Given the description of an element on the screen output the (x, y) to click on. 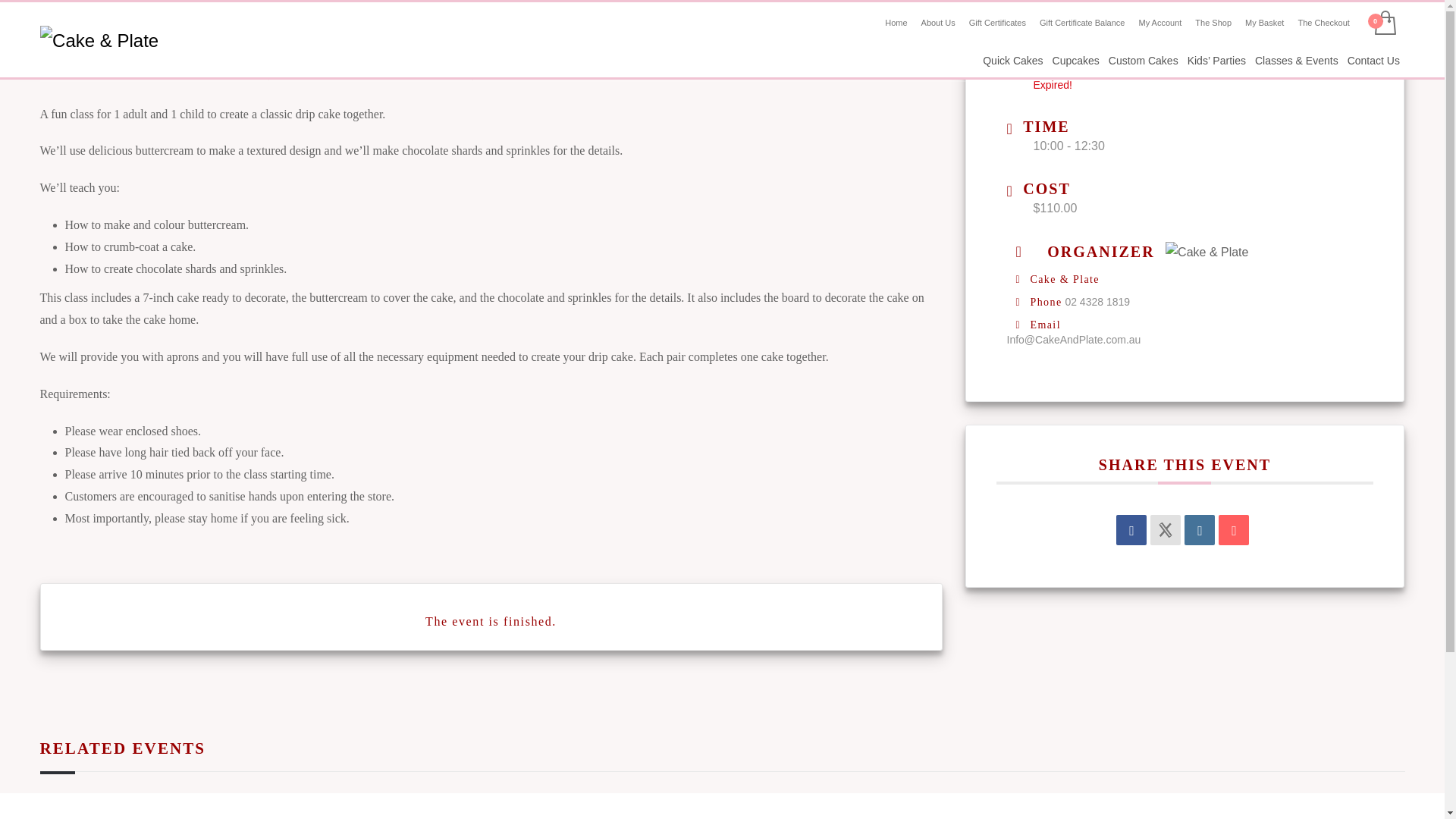
Gift Certificates (997, 22)
X Social Network (1165, 530)
Home (896, 22)
The Checkout (1323, 22)
02 4328 1819 (1096, 301)
About Us (938, 22)
Share on Facebook (1131, 530)
View your shopping cart (1388, 22)
My Basket (1264, 22)
The Shop (1213, 22)
